Given the description of an element on the screen output the (x, y) to click on. 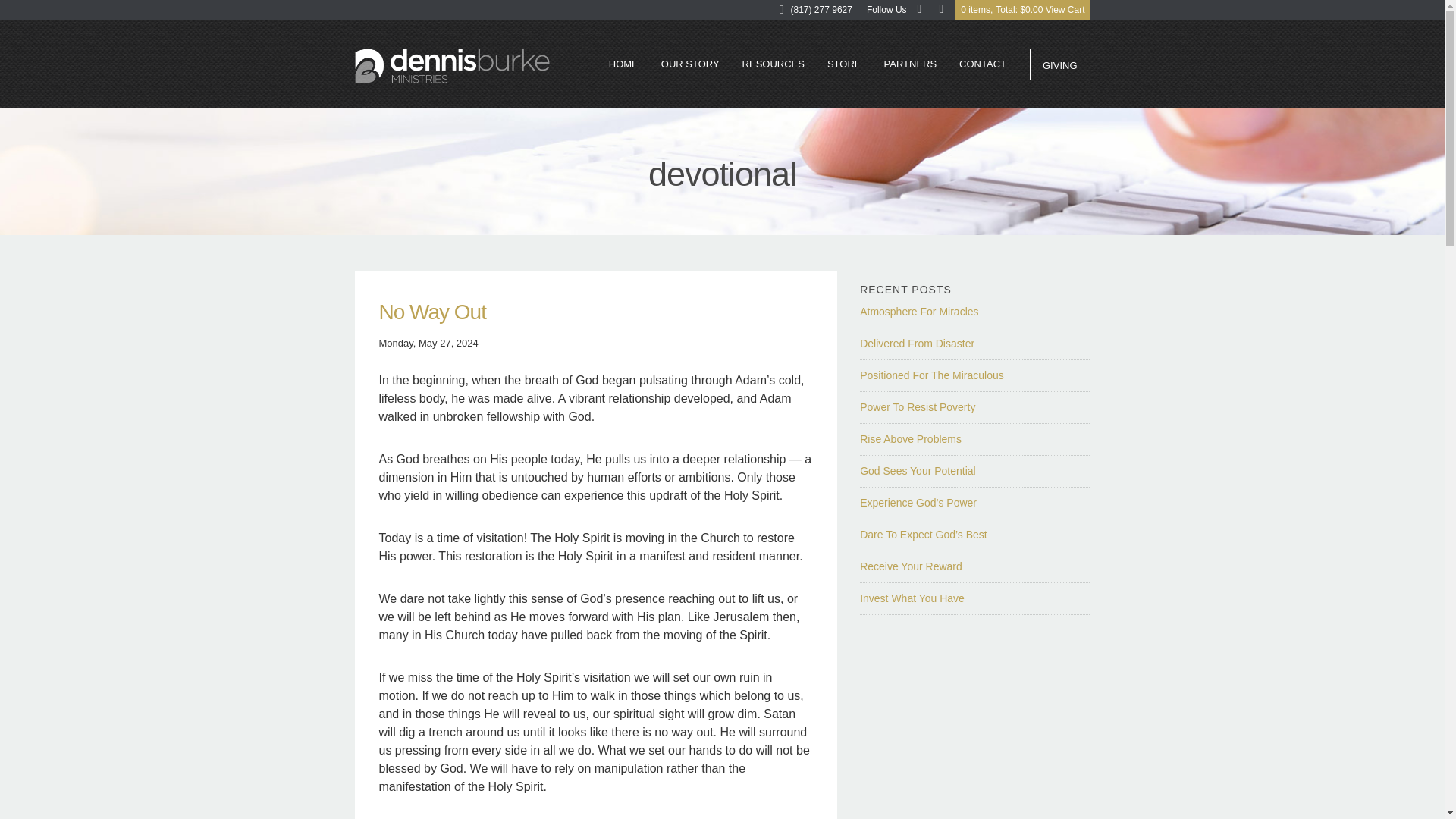
Shopping cart is empty. (1022, 9)
CONTACT (982, 64)
Home (622, 64)
OUR STORY (689, 64)
Dennis Burke Ministries (452, 66)
Follow Us (886, 9)
HOME (622, 64)
Store (843, 64)
PARTNERS (910, 64)
STORE (843, 64)
Resources (772, 64)
Our Story (689, 64)
RESOURCES (772, 64)
Follow Us (886, 9)
GIVING (1059, 64)
